Given the description of an element on the screen output the (x, y) to click on. 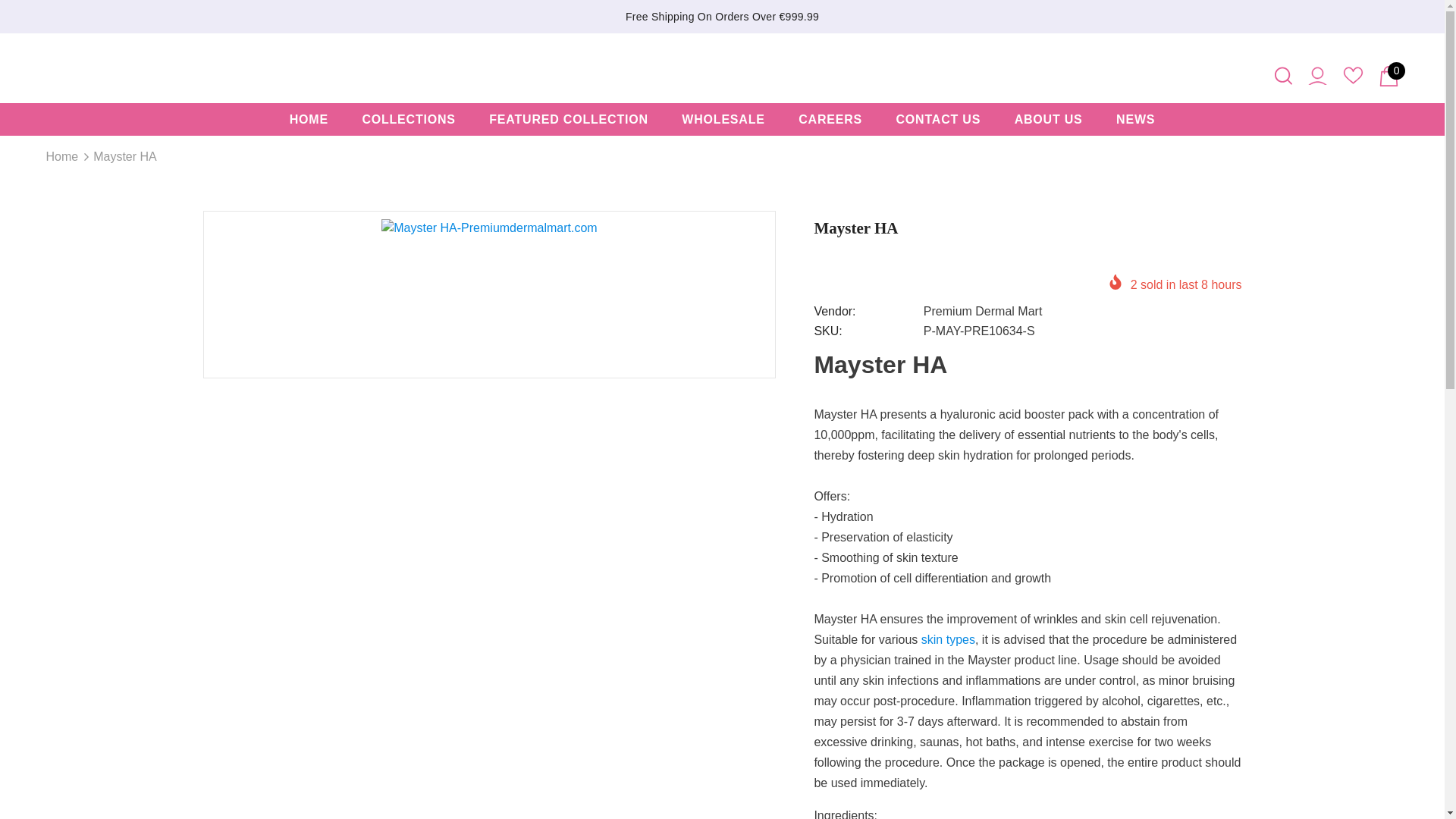
HOME (309, 119)
WHOLESALE (722, 119)
CAREERS (829, 119)
ABOUT US (1048, 119)
Home (61, 156)
Logo (722, 67)
FEATURED COLLECTION (568, 119)
0 (1388, 76)
NEWS (1135, 119)
COLLECTIONS (407, 119)
